Given the description of an element on the screen output the (x, y) to click on. 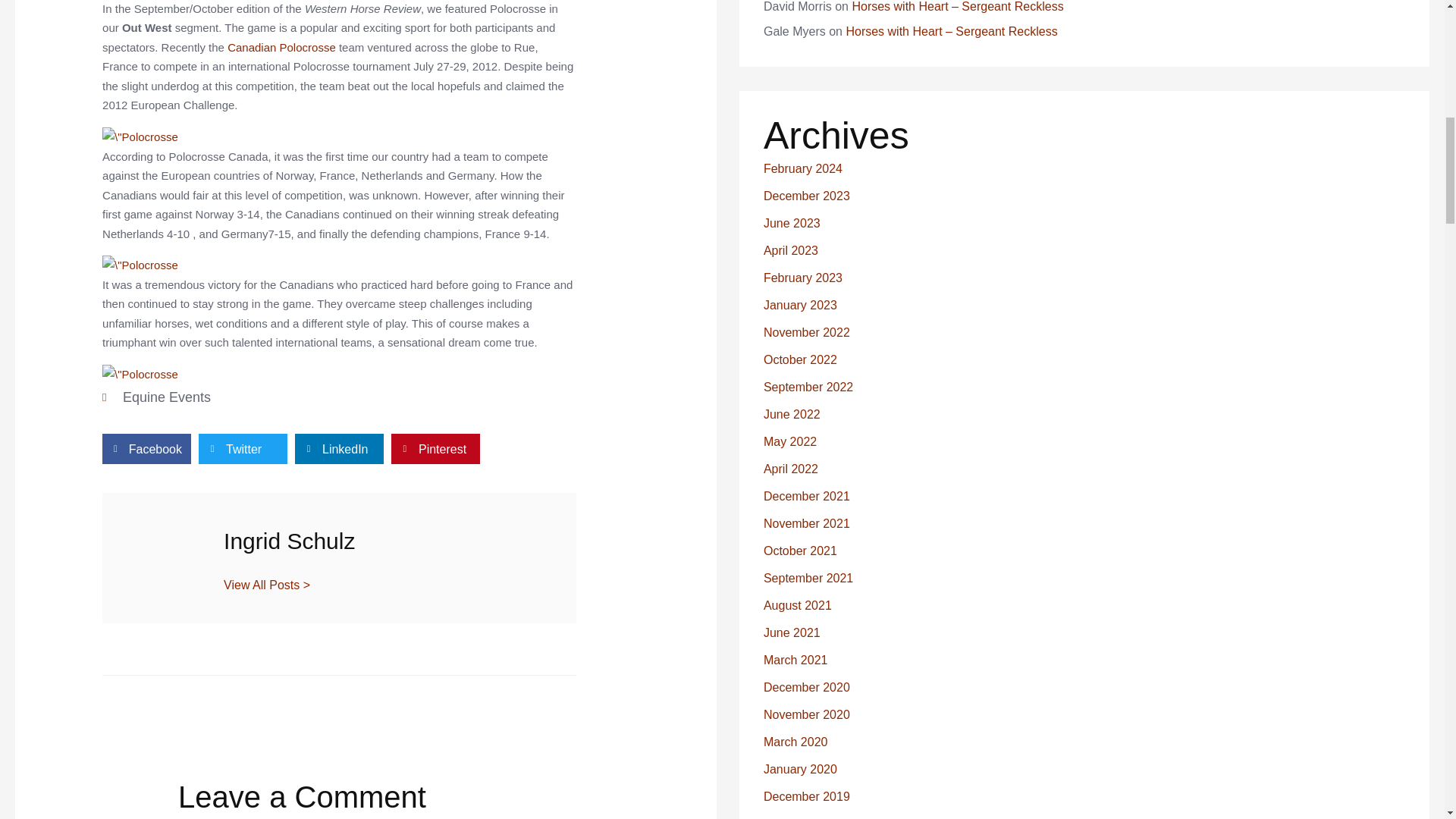
Equine Events (166, 396)
Ingrid Schulz (385, 540)
Canadian Polocrosse (281, 47)
